Given the description of an element on the screen output the (x, y) to click on. 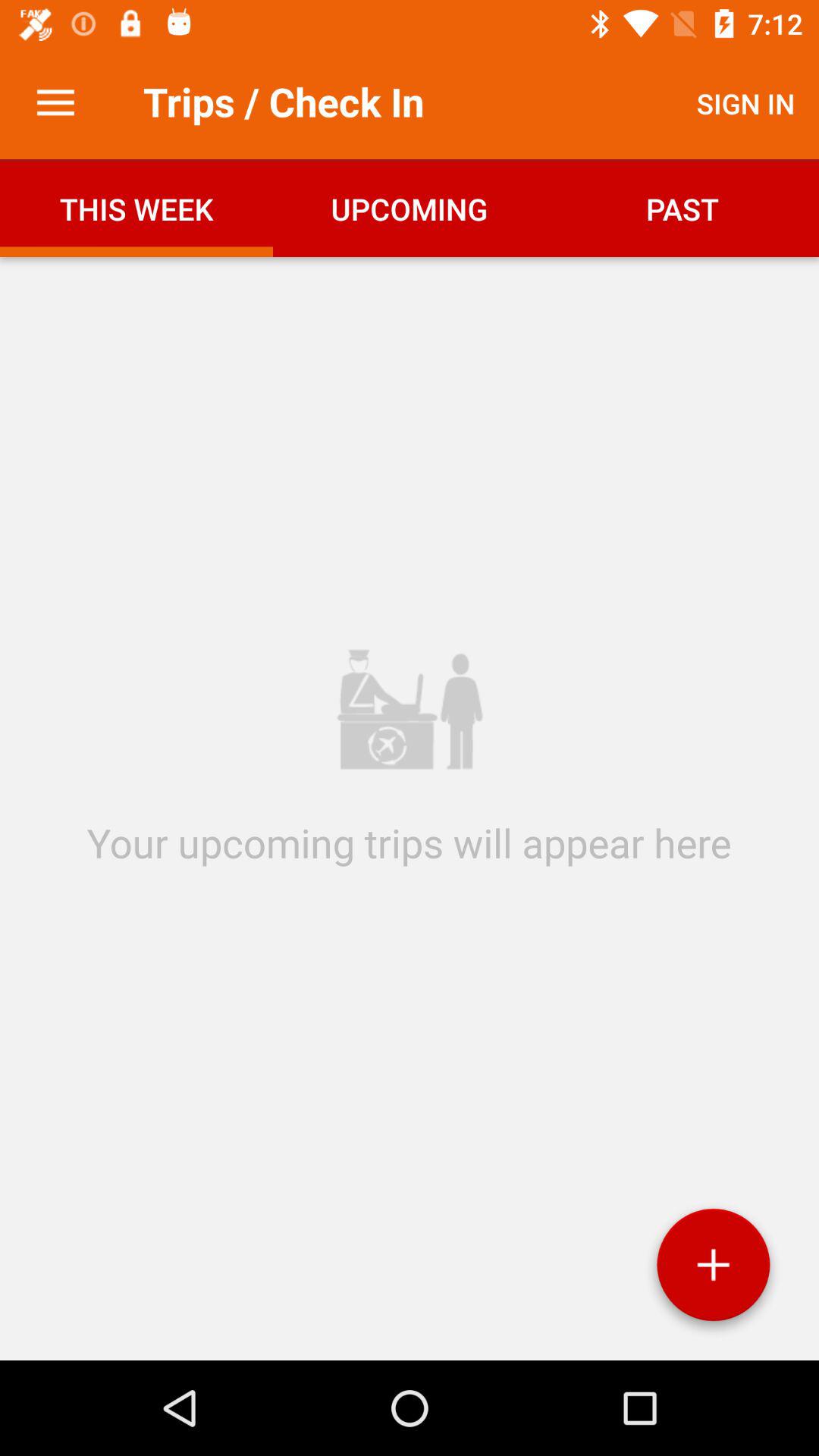
add trip (713, 1270)
